Given the description of an element on the screen output the (x, y) to click on. 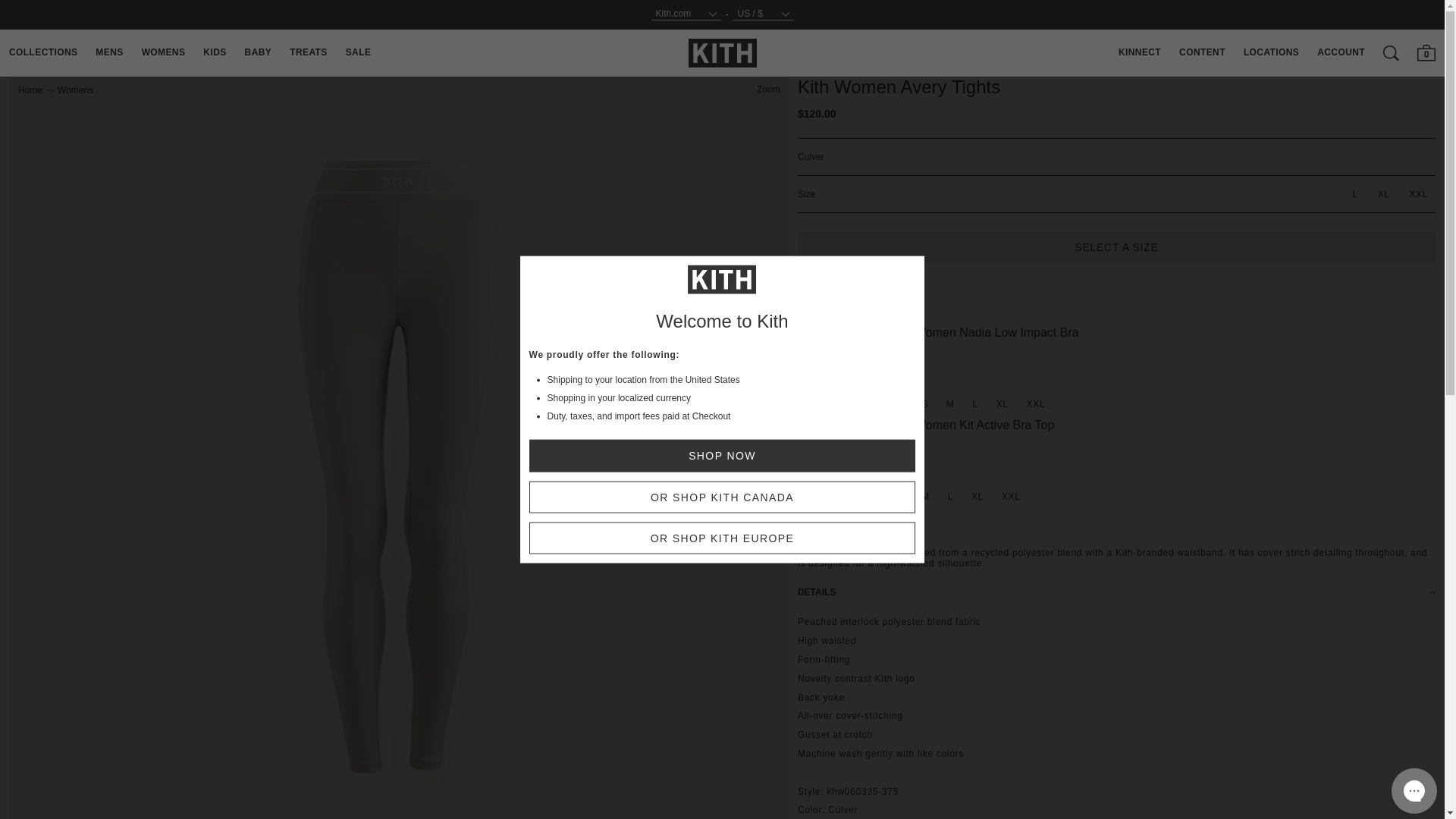
Kith (722, 52)
KITH LOGO (722, 52)
